Given the description of an element on the screen output the (x, y) to click on. 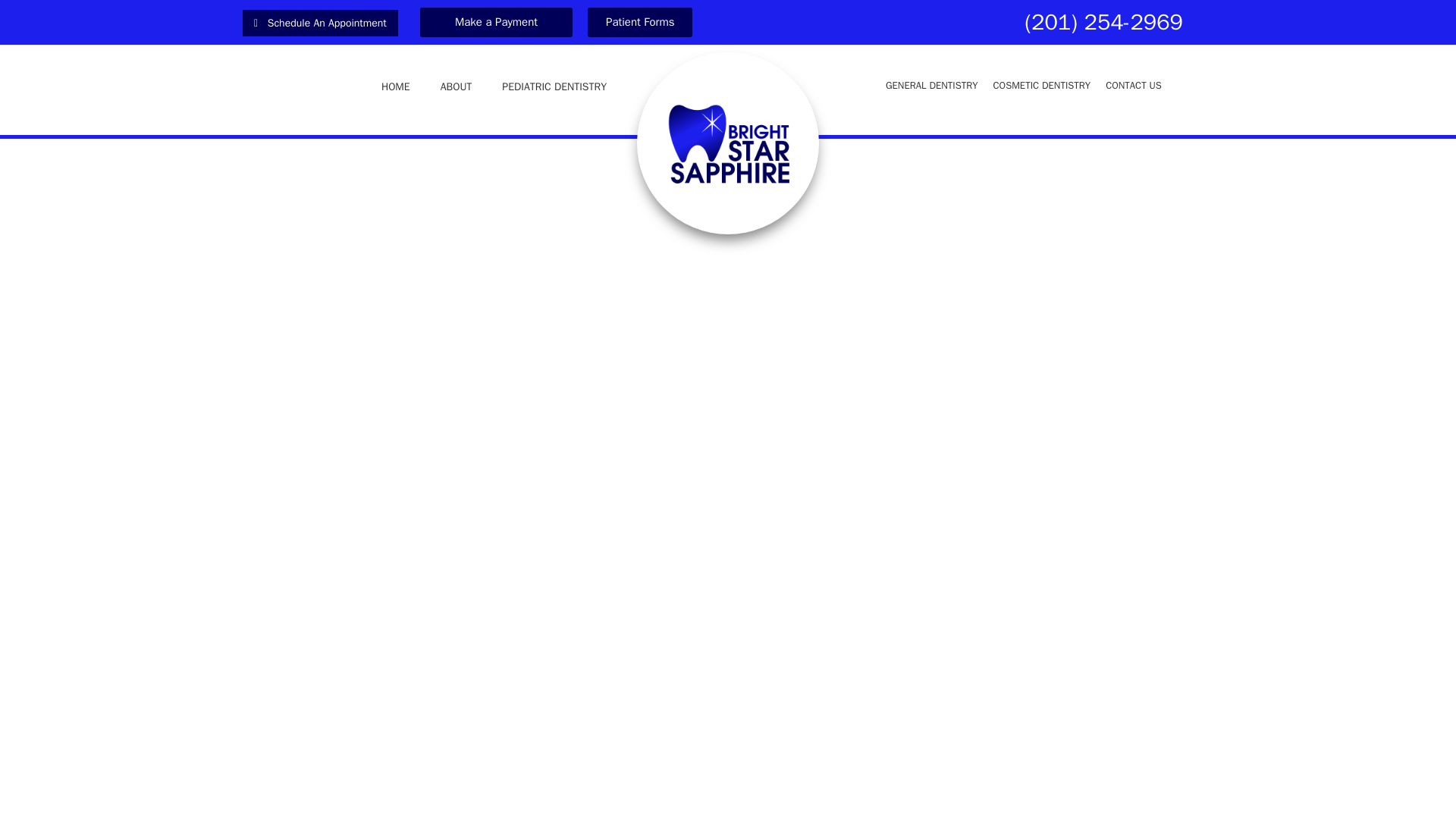
Make a Payment (496, 21)
Patient Forms (640, 21)
ABOUT (456, 86)
  Schedule An Appointment (320, 22)
HOME (395, 86)
PEDIATRIC DENTISTRY (553, 86)
